Given the description of an element on the screen output the (x, y) to click on. 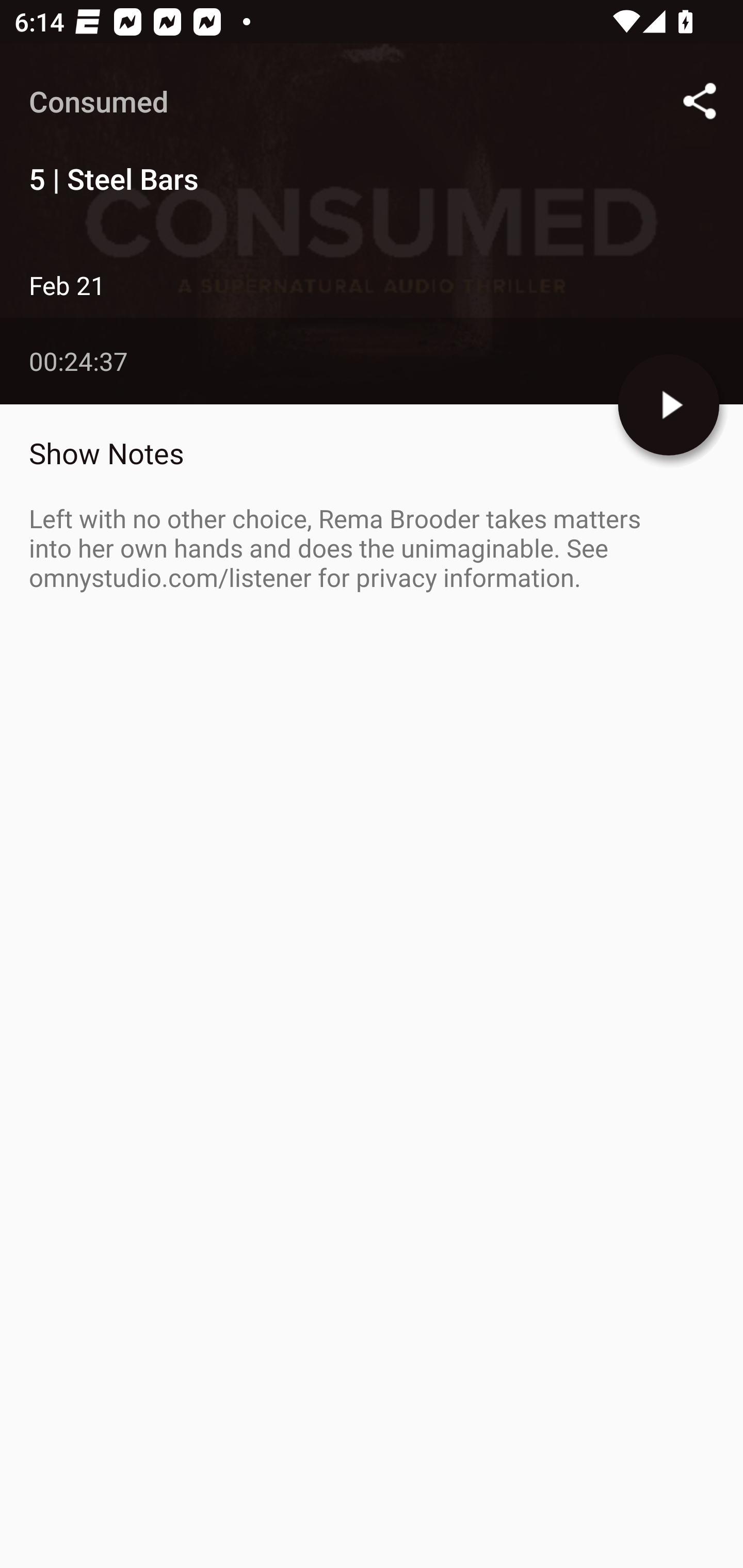
Consumed 5 | Steel Bars Feb 21 00:24:37 (371, 223)
